Given the description of an element on the screen output the (x, y) to click on. 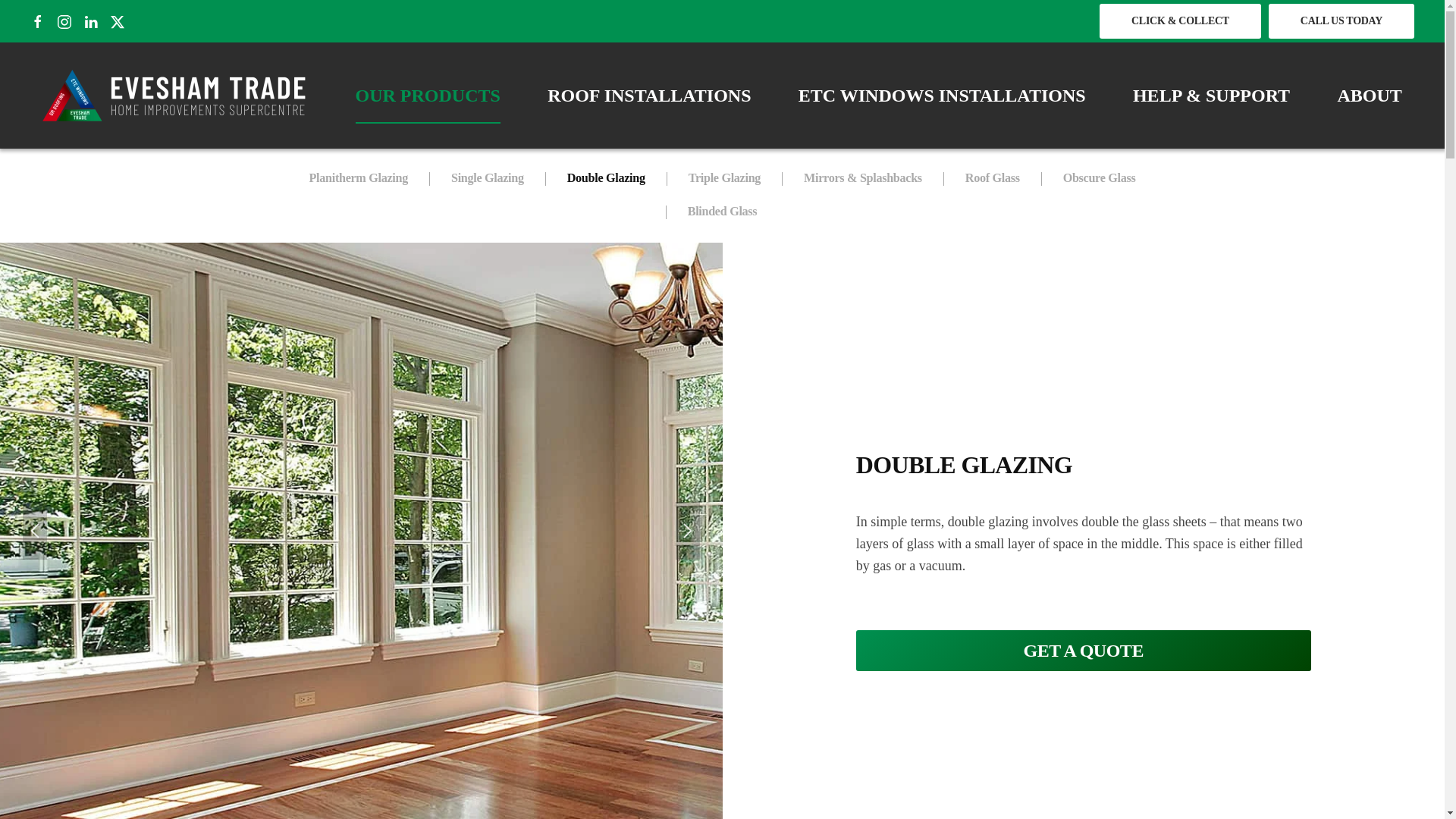
click-collect (1179, 21)
CALL US TODAY (1340, 21)
OUR PRODUCTS (427, 94)
